Given the description of an element on the screen output the (x, y) to click on. 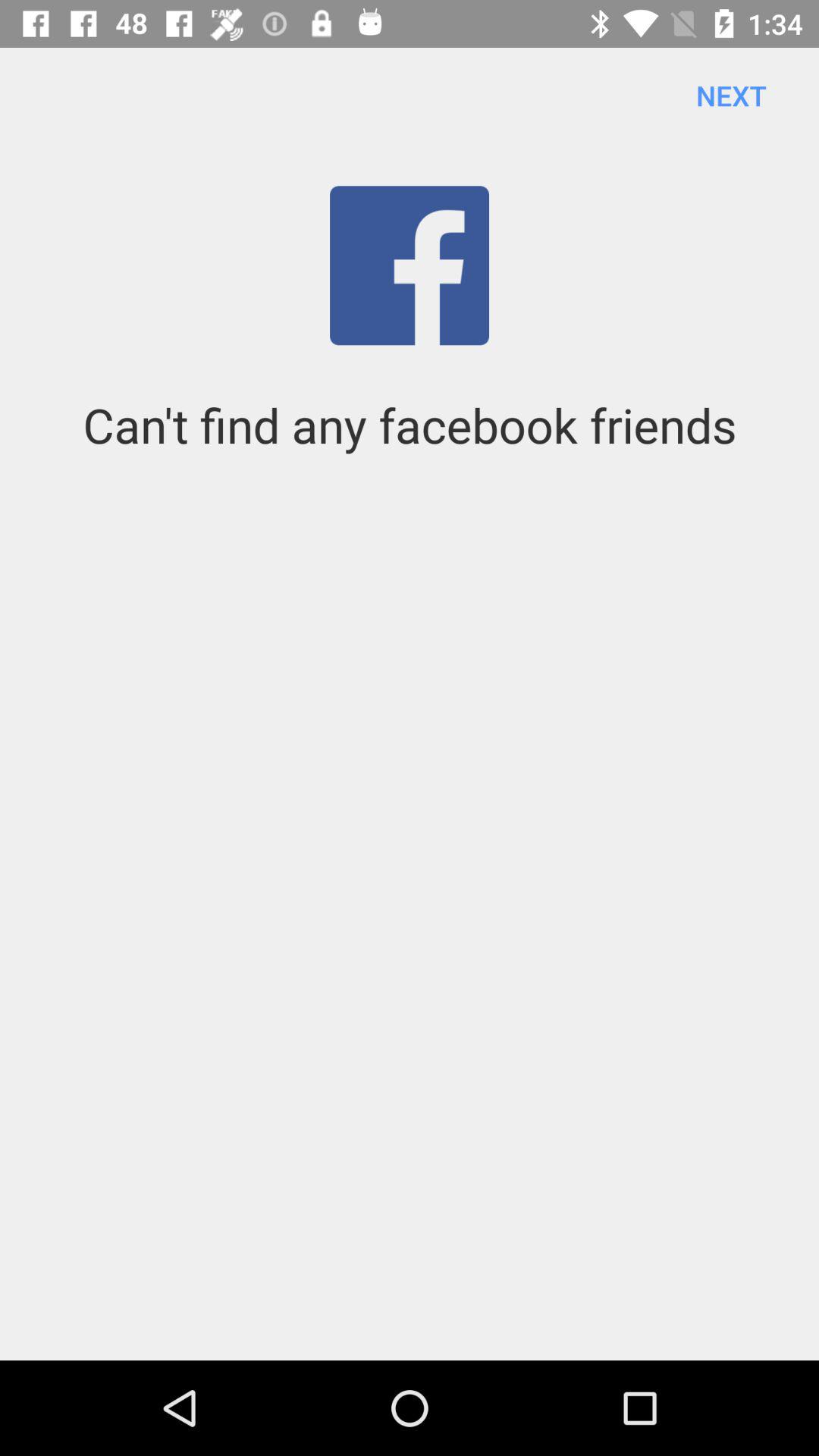
tap icon above can t find item (731, 95)
